Given the description of an element on the screen output the (x, y) to click on. 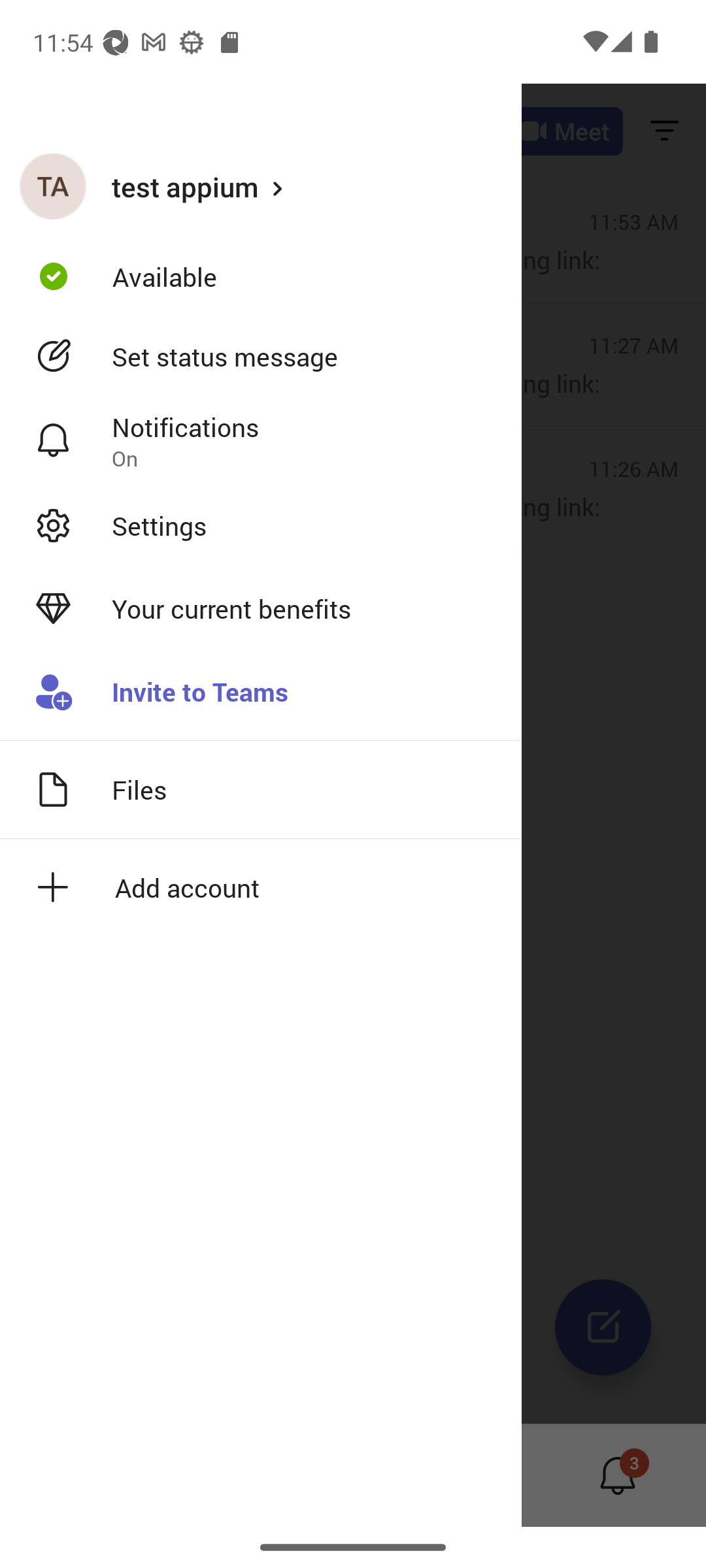
test appium (260, 186)
test appium profile picture (53, 186)
Notifications Notification settings On (260, 441)
Settings Open settings (260, 525)
Your current benefits (260, 608)
Invite to Teams Invite someone to your Teams org (260, 691)
Files (260, 789)
Add account icon Add account (260, 887)
